Given the description of an element on the screen output the (x, y) to click on. 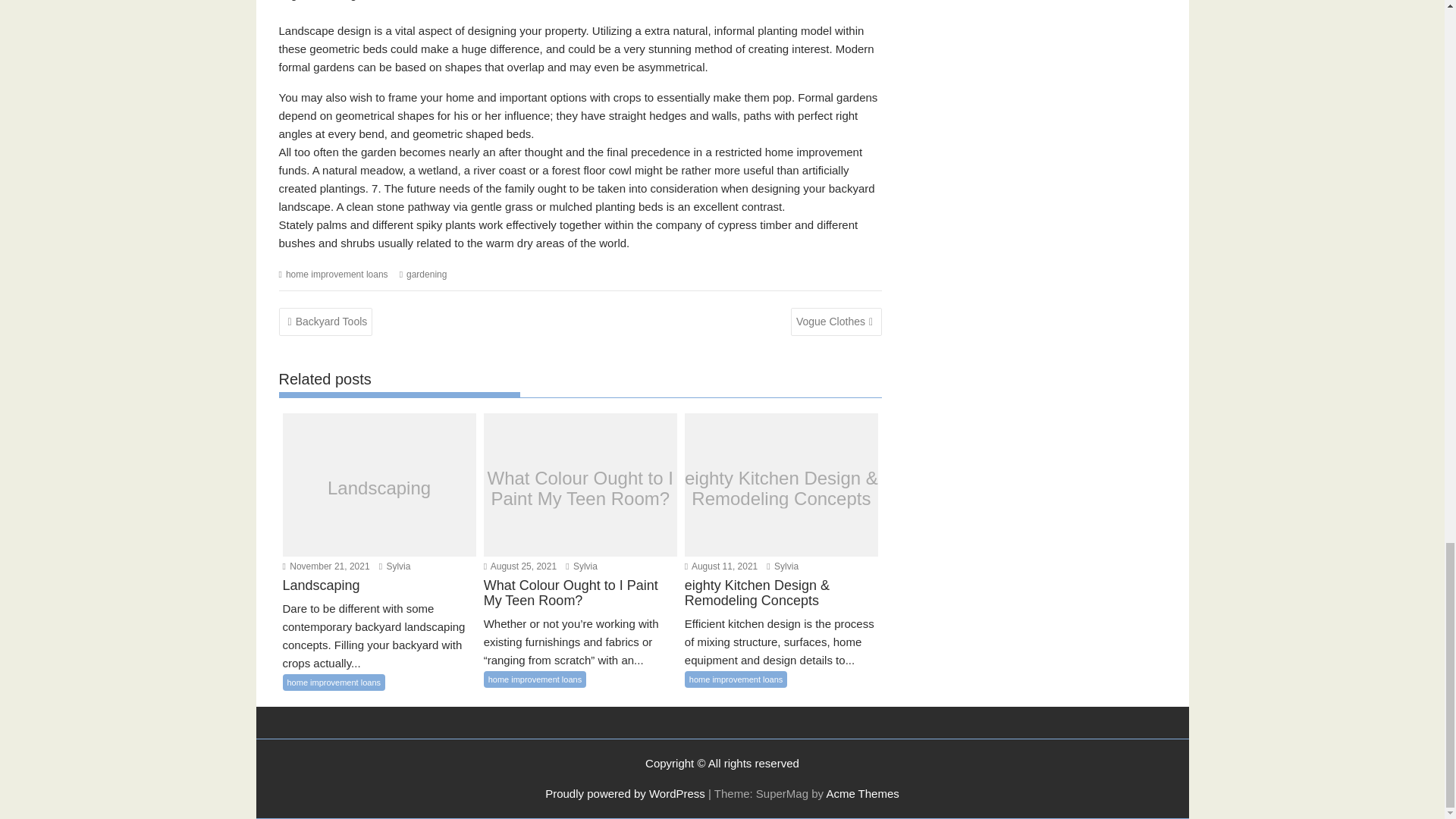
Sylvia (782, 566)
Sylvia (581, 566)
Sylvia (394, 566)
